Given the description of an element on the screen output the (x, y) to click on. 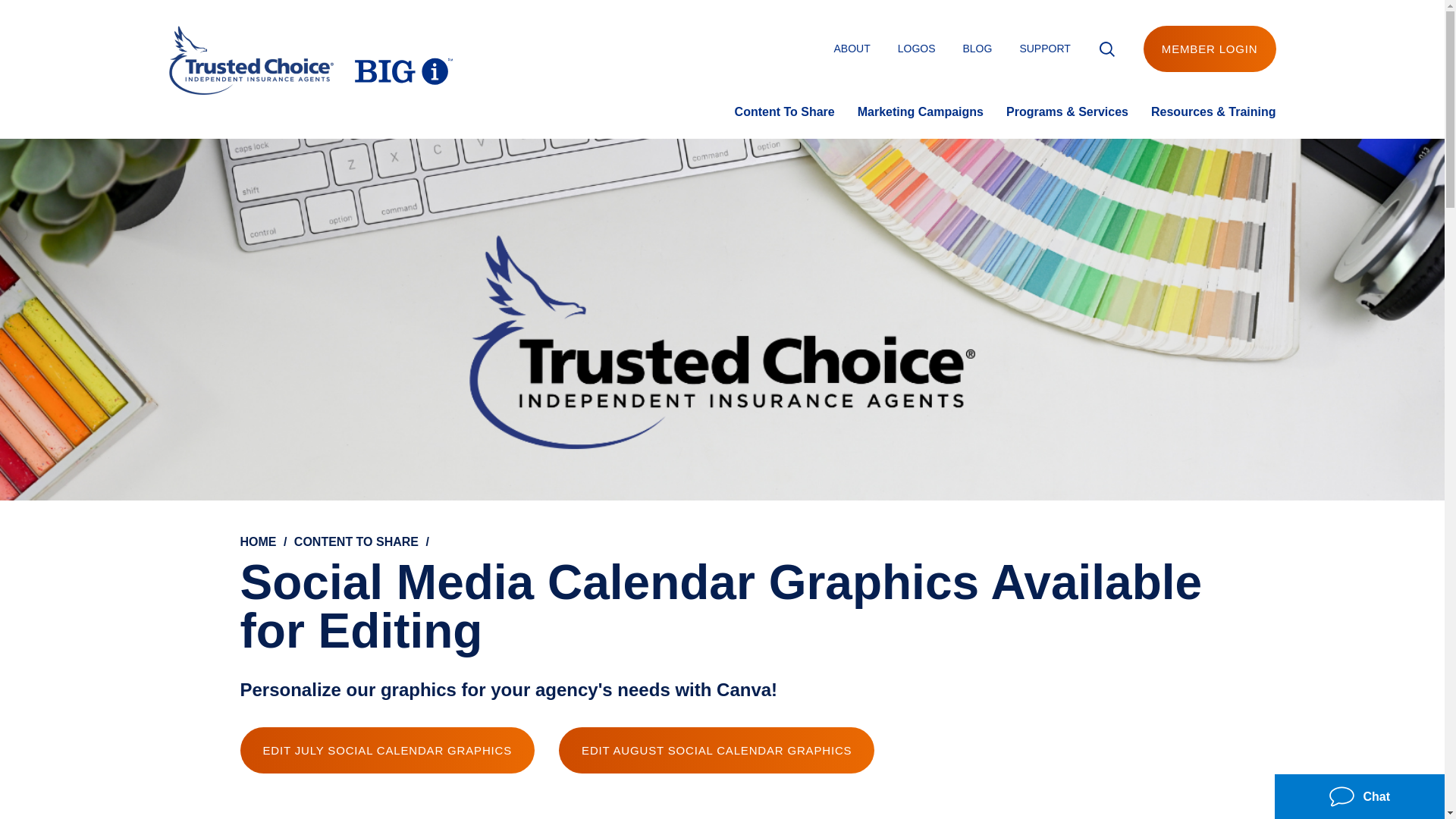
ABOUT (850, 48)
Content To Share (784, 111)
BLOG (977, 48)
MEMBER LOGIN (1209, 48)
Homepage (310, 63)
SUPPORT (1044, 48)
Marketing Campaigns (920, 111)
LOGOS (917, 48)
